Given the description of an element on the screen output the (x, y) to click on. 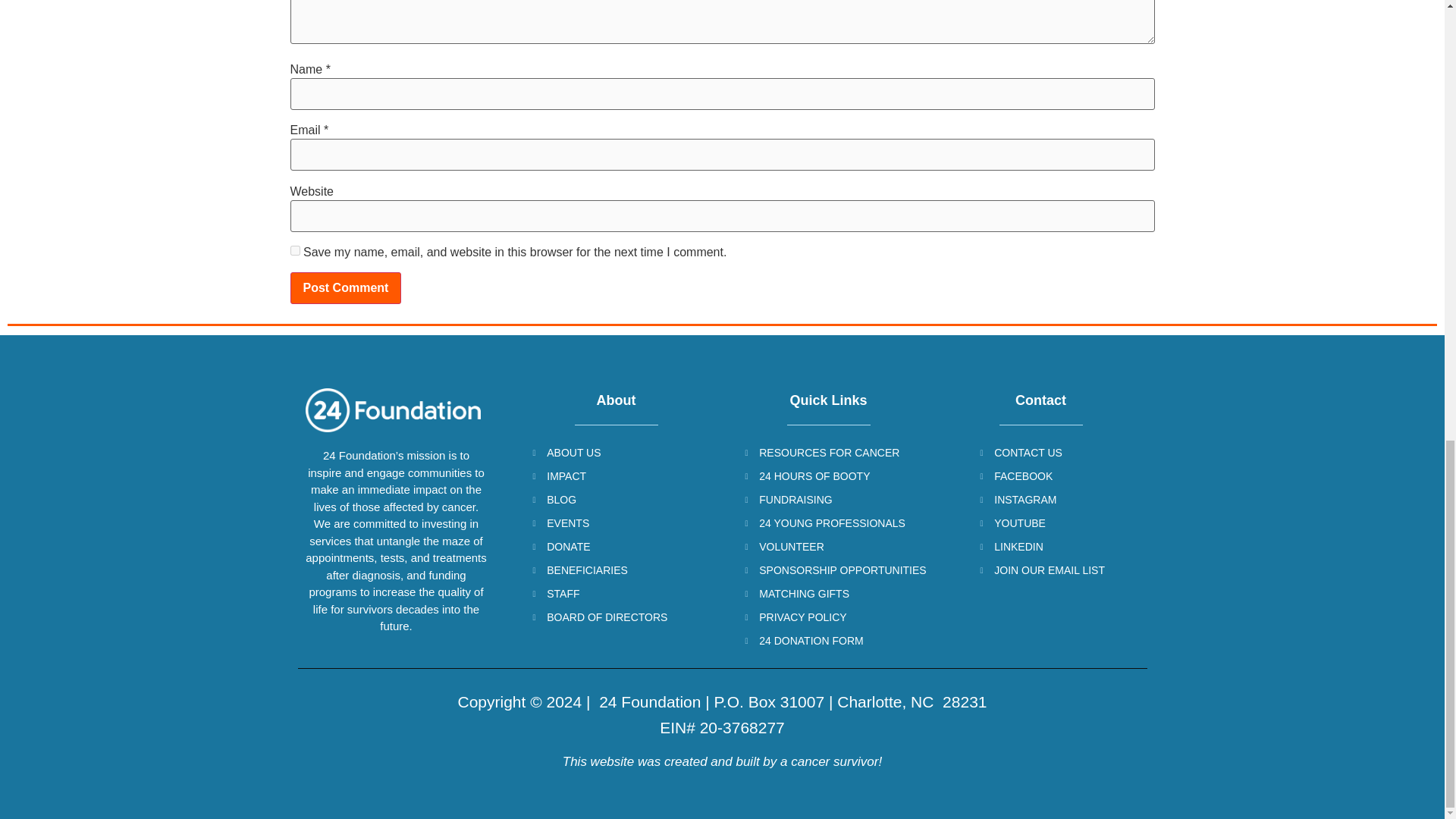
yes (294, 250)
Post Comment (345, 287)
